Given the description of an element on the screen output the (x, y) to click on. 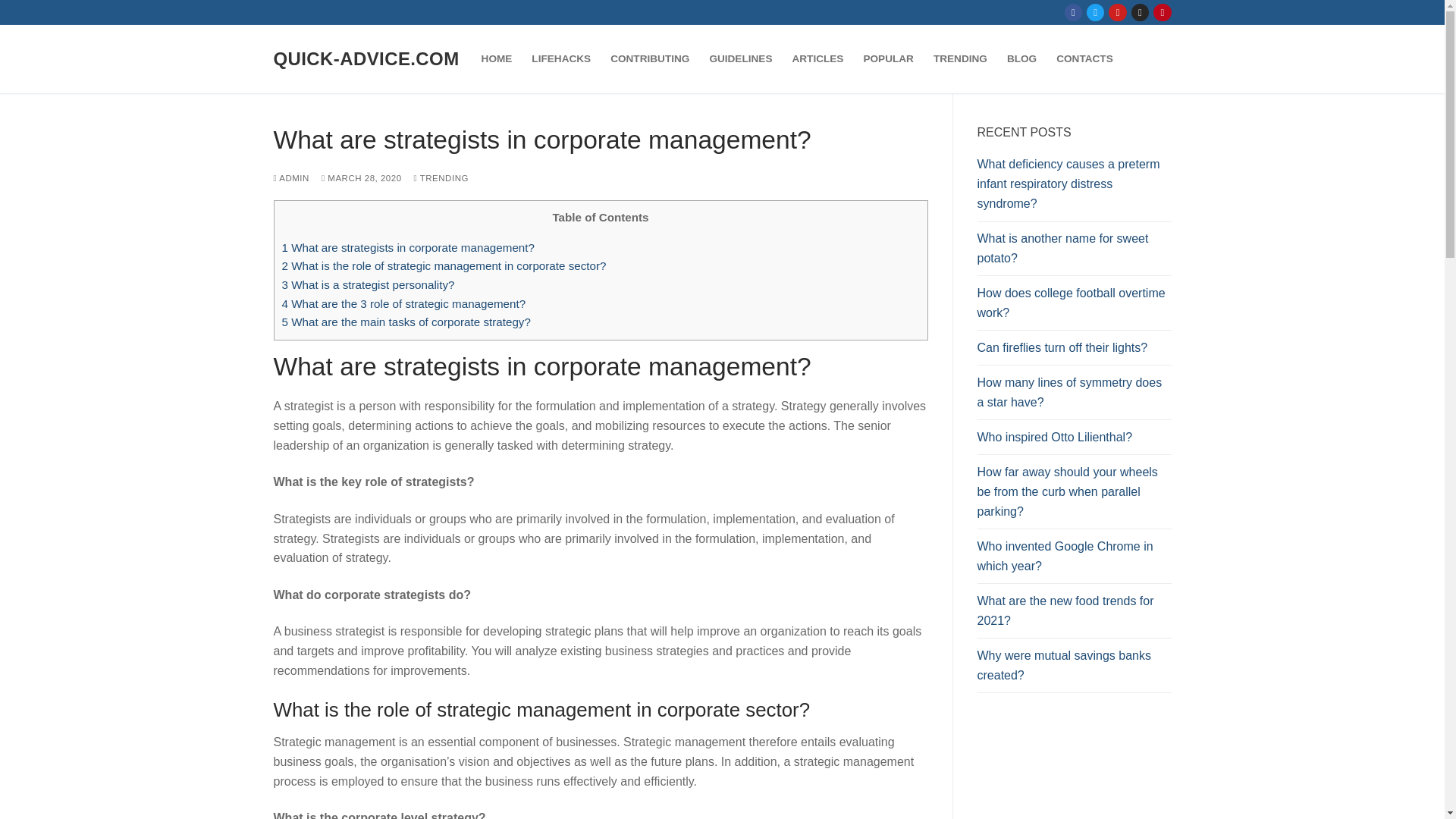
Pinterest (1162, 12)
CONTACTS (1084, 59)
Facebook (1073, 12)
MARCH 28, 2020 (361, 177)
QUICK-ADVICE.COM (365, 58)
HOME (496, 59)
ARTICLES (817, 59)
TRENDING (960, 59)
Instagram (1139, 12)
CONTRIBUTING (648, 59)
